Given the description of an element on the screen output the (x, y) to click on. 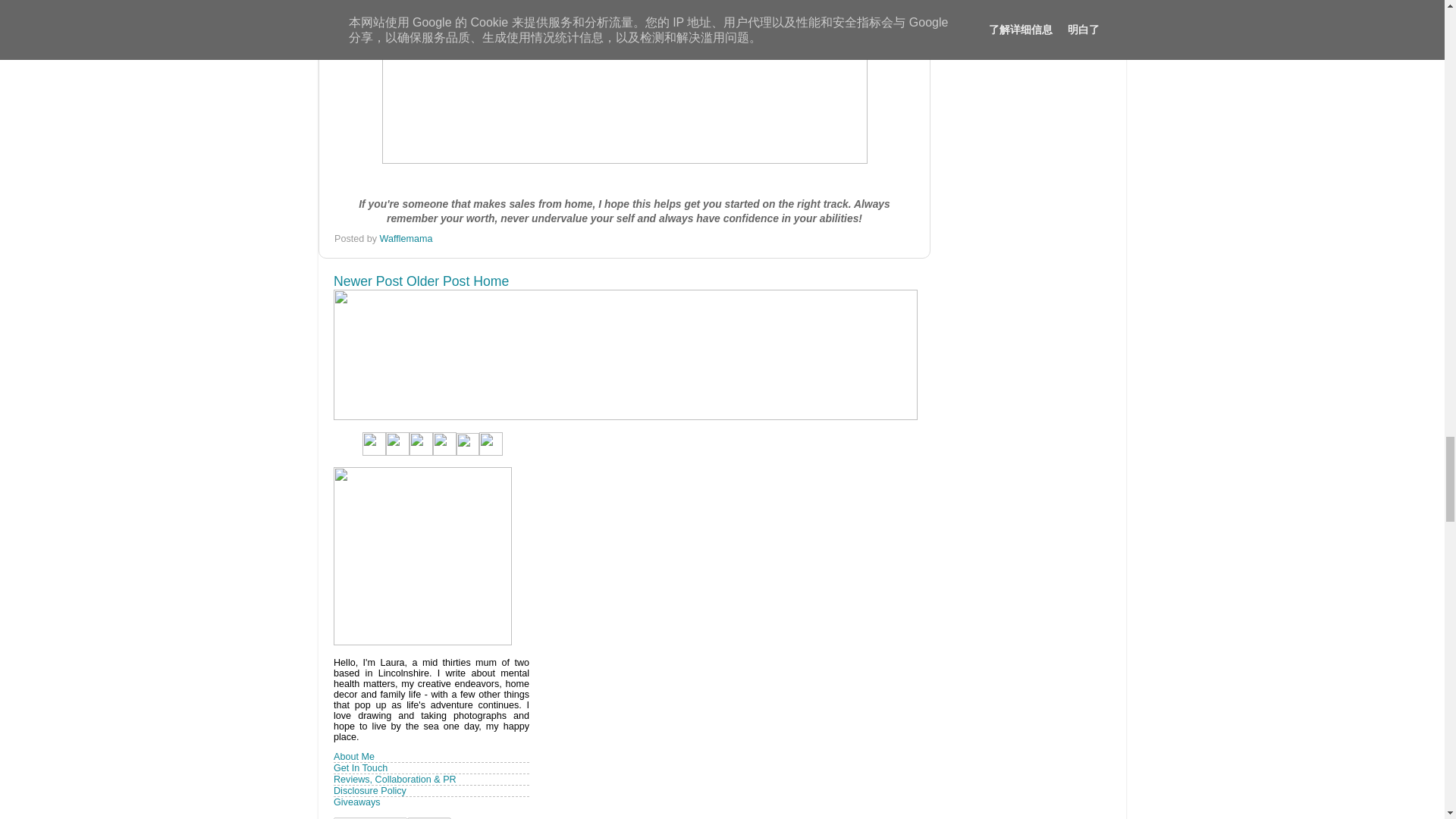
Older Post (437, 281)
search (429, 818)
Search (429, 818)
Disclosure Policy (369, 790)
author profile (406, 238)
Home (490, 281)
Older Post (437, 281)
Wafflemama (406, 238)
Newer Post (368, 281)
Get In Touch (360, 767)
Search (429, 818)
Search (429, 818)
Giveaways (356, 801)
About Me (353, 756)
search (370, 818)
